Given the description of an element on the screen output the (x, y) to click on. 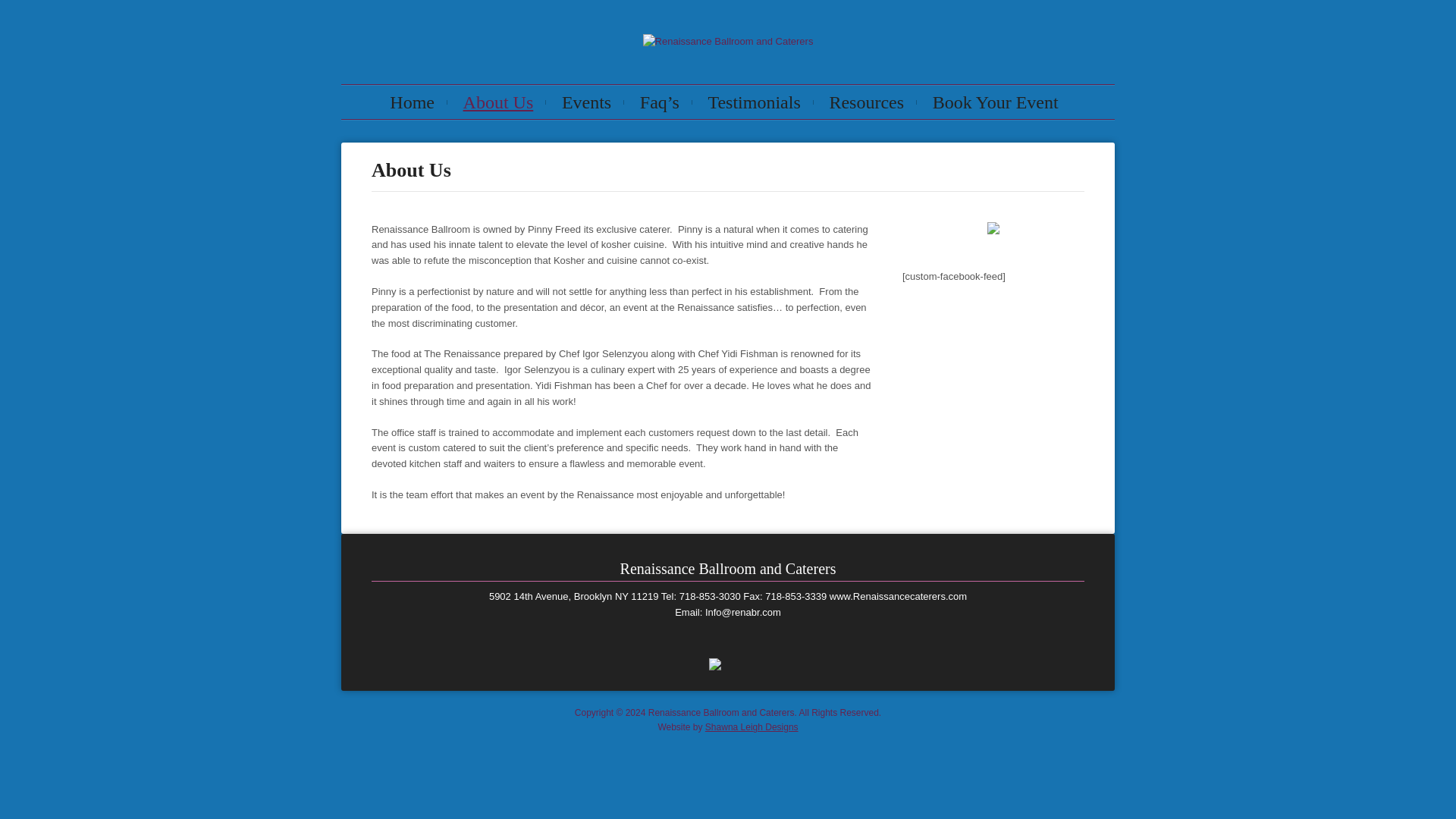
Renaissance Ballroom and Caterers (728, 41)
Home (412, 102)
About Us (498, 102)
Resources (865, 102)
Testimonials (753, 102)
Events (586, 102)
Book Your Event (995, 102)
